Given the description of an element on the screen output the (x, y) to click on. 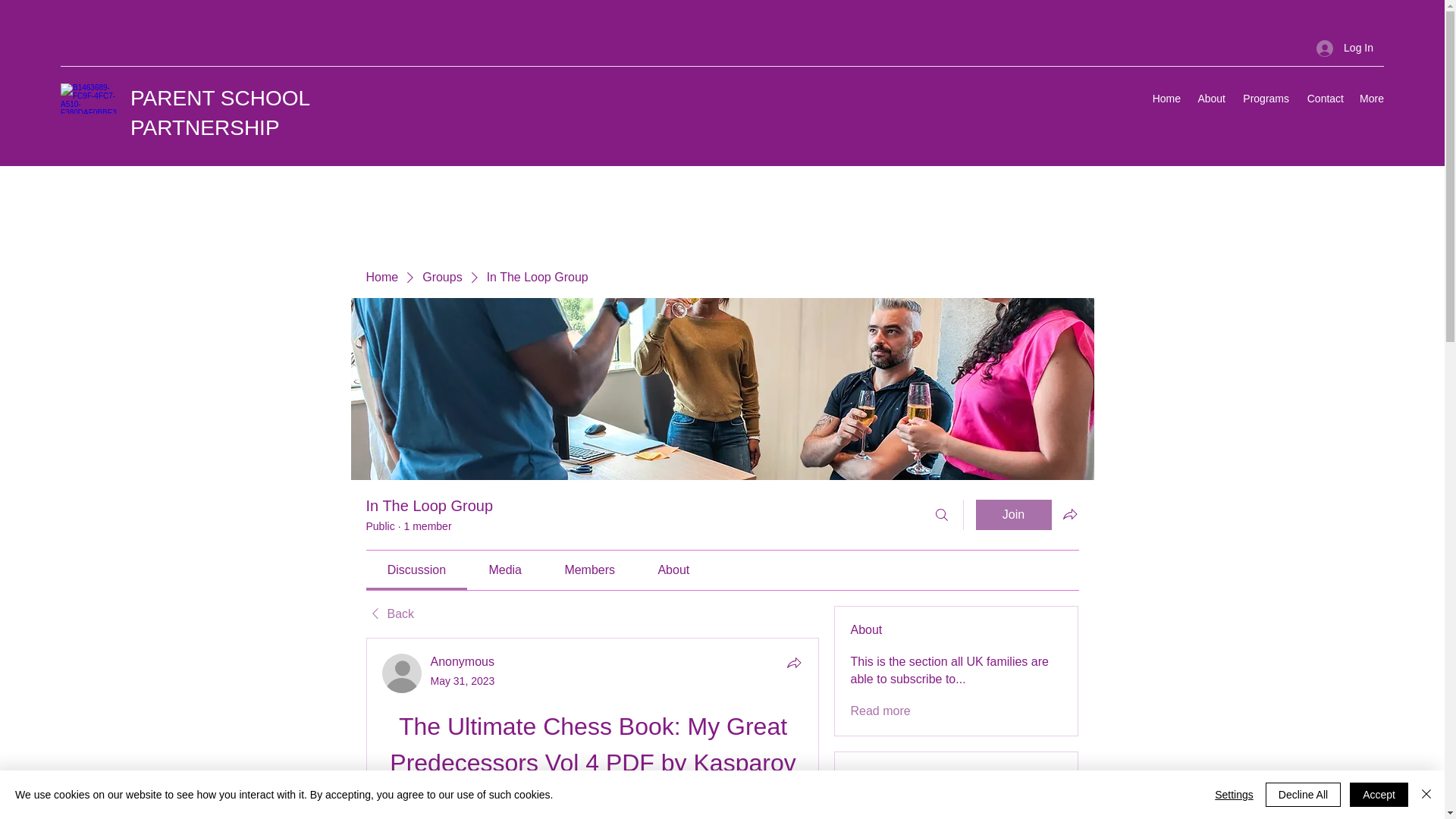
Join (1013, 514)
May 31, 2023 (462, 680)
Accept (1378, 794)
Home (381, 277)
Log In (1345, 48)
Programs (1265, 97)
PARENT SCHOOL PARTNERSHIP (219, 112)
psp806 (906, 810)
Back (389, 614)
Read more (880, 710)
